Given the description of an element on the screen output the (x, y) to click on. 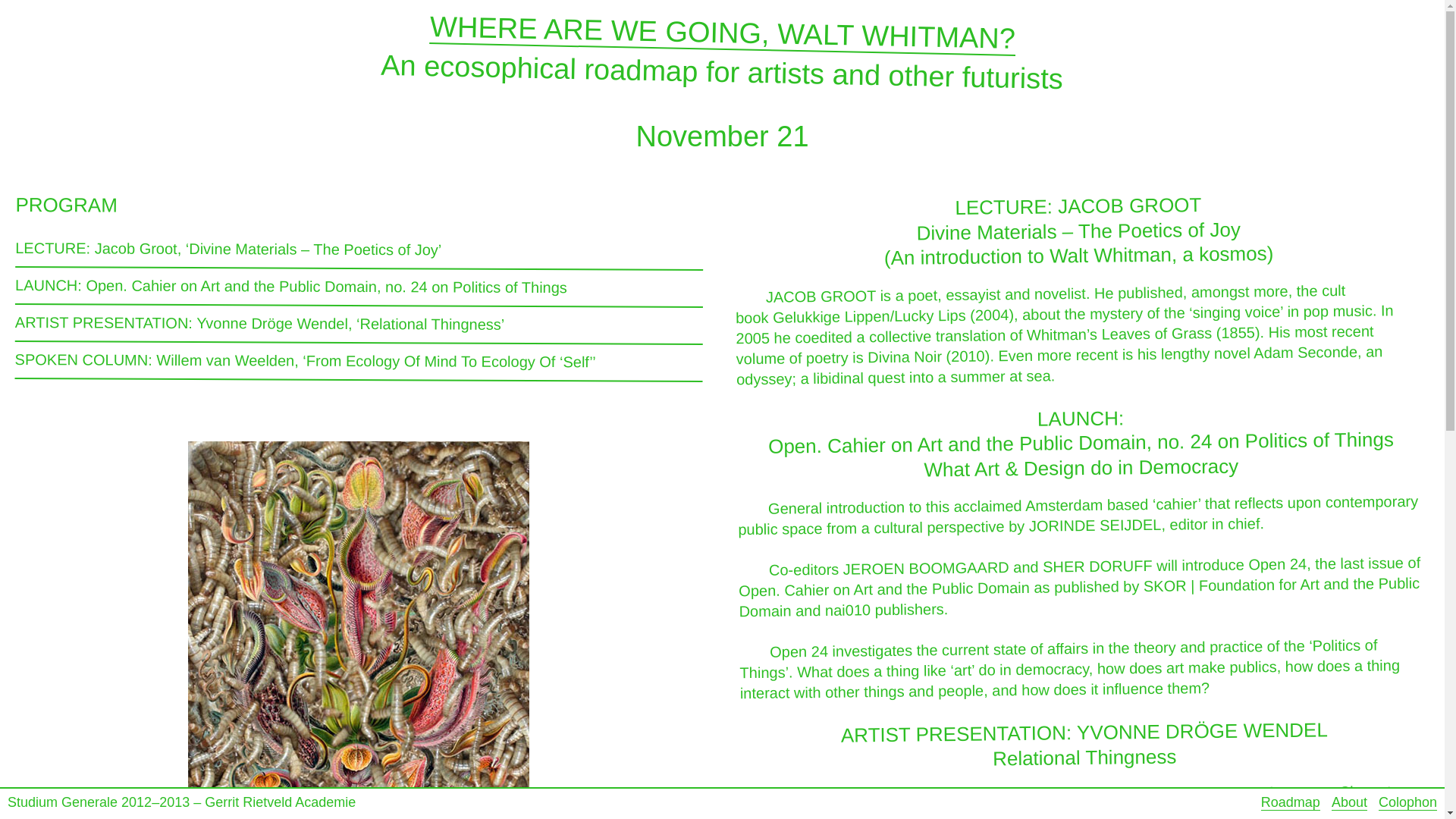
WHERE ARE WE GOING, WALT WHITMAN? (721, 27)
Colophon (1407, 802)
About (1349, 802)
Roadmap (1290, 802)
